Given the description of an element on the screen output the (x, y) to click on. 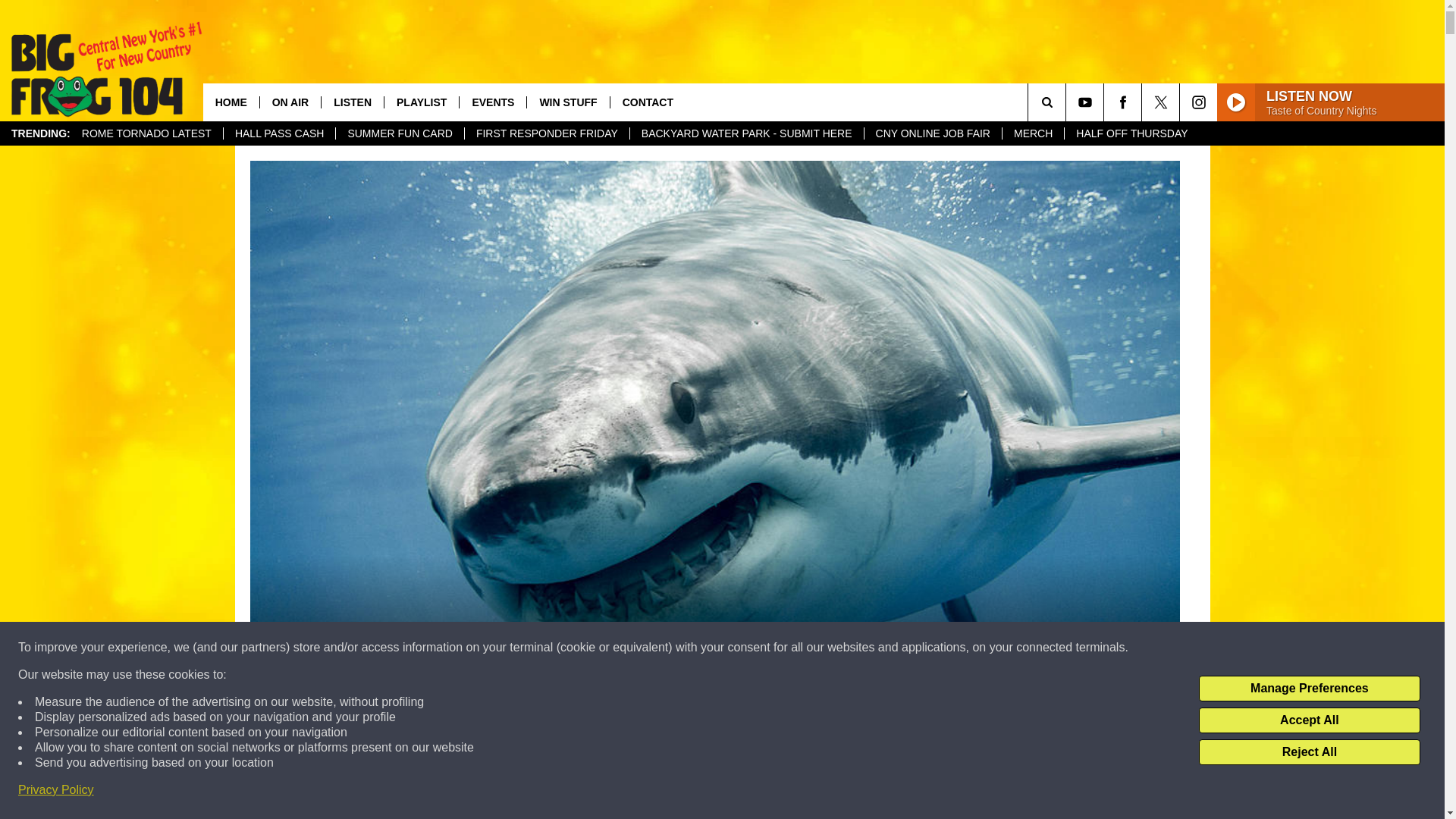
SEARCH (1068, 102)
MERCH (1032, 133)
Share on Facebook (517, 791)
Accept All (1309, 720)
LISTEN (352, 102)
SUMMER FUN CARD (398, 133)
ON AIR (289, 102)
HALF OFF THURSDAY (1131, 133)
HOME (231, 102)
SEARCH (1068, 102)
HALL PASS CASH (279, 133)
CONTACT (647, 102)
Manage Preferences (1309, 688)
Reject All (1309, 751)
PLAYLIST (421, 102)
